Given the description of an element on the screen output the (x, y) to click on. 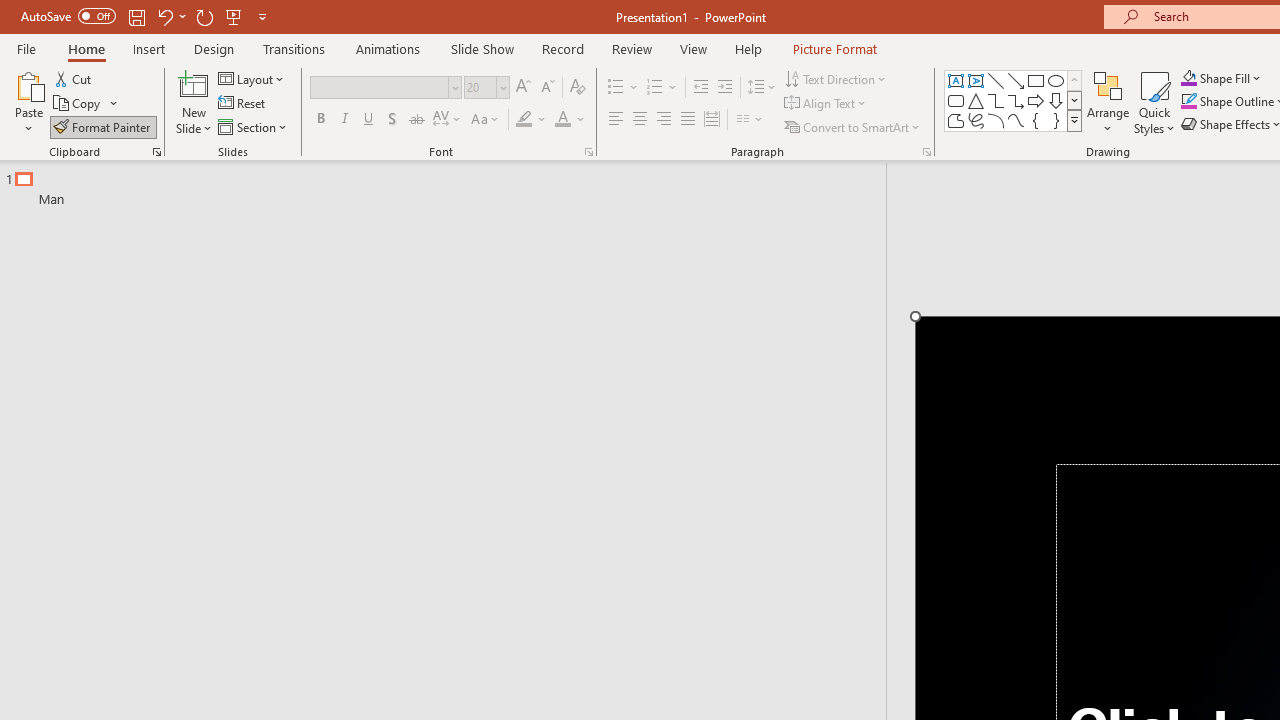
Right Brace (1055, 120)
Decrease Indent (700, 87)
Align Left (616, 119)
Row Down (1074, 100)
Increase Indent (725, 87)
Clear Formatting (577, 87)
Cut (73, 78)
AutomationID: ShapesInsertGallery (1014, 100)
Row up (1074, 79)
Shape Fill (1221, 78)
Shape Fill Orange, Accent 2 (1188, 78)
Arc (995, 120)
